Given the description of an element on the screen output the (x, y) to click on. 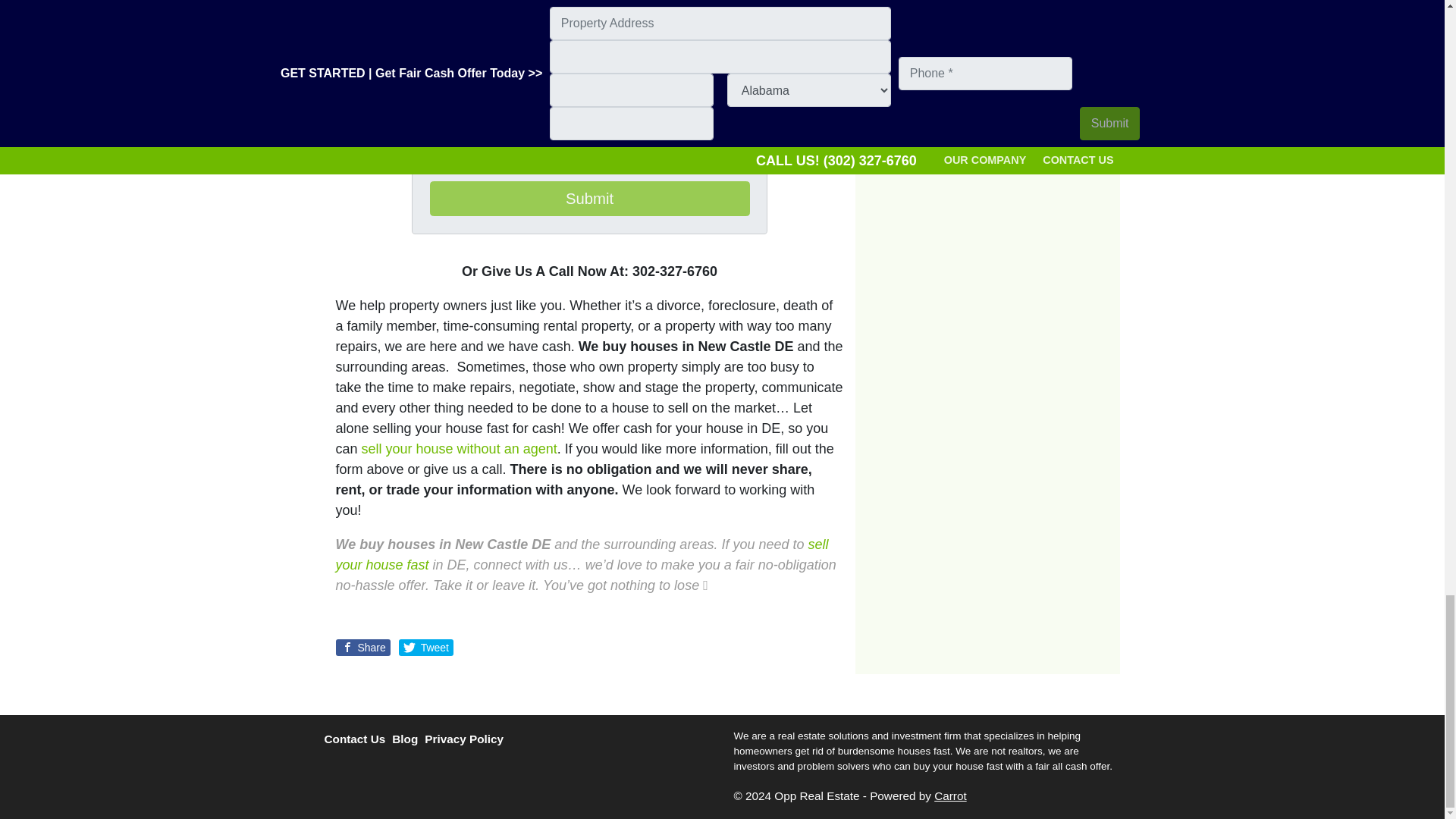
Carrot (950, 795)
Share (362, 647)
YouTube (361, 773)
Facebook (333, 773)
Blog (408, 739)
Submit (987, 37)
Contact Us (358, 739)
Share on Facebook (362, 647)
sell your house fast (581, 554)
Tweet (425, 647)
